Given the description of an element on the screen output the (x, y) to click on. 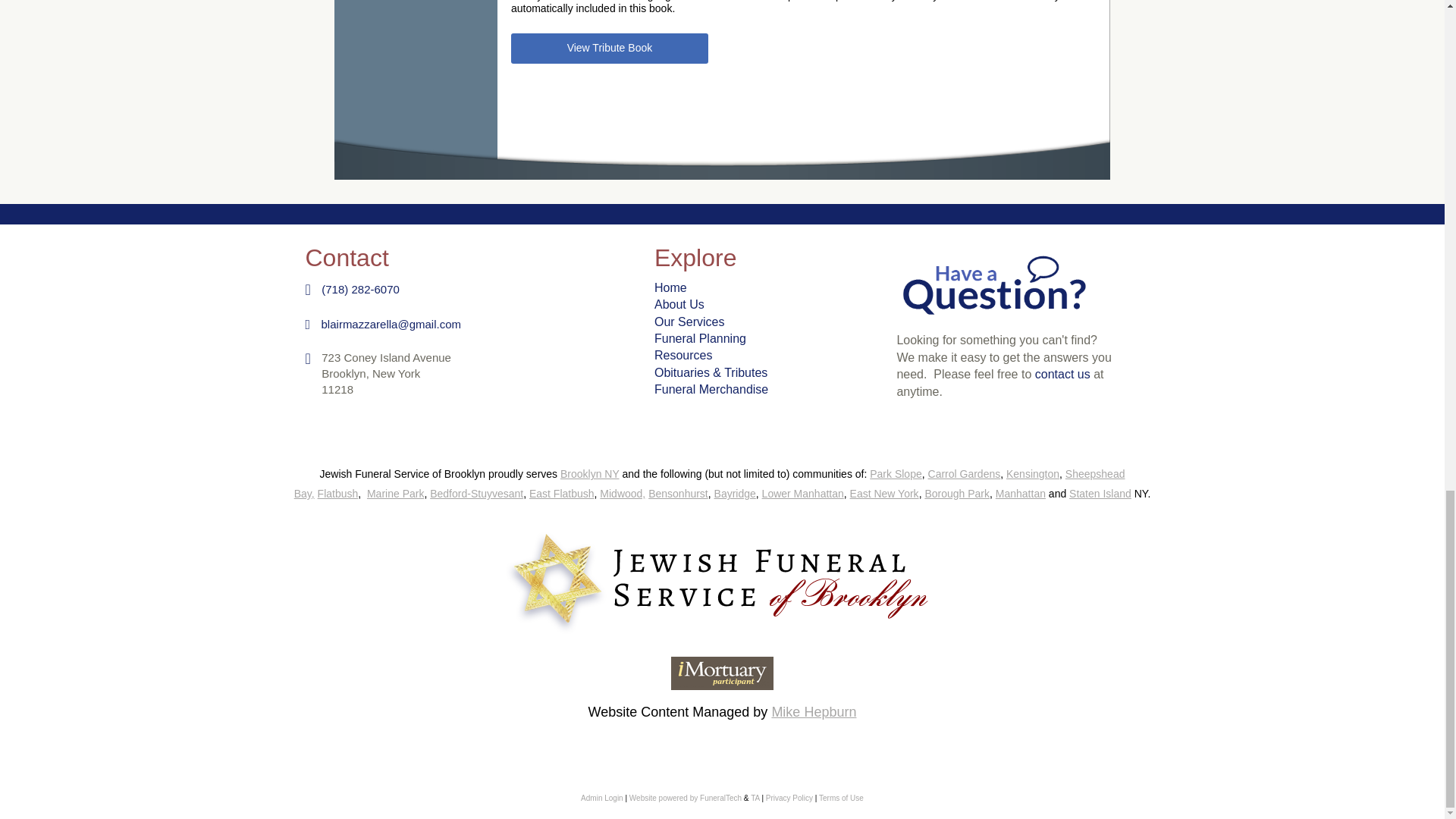
Funeral Homes in Lower Manhatten NY (802, 493)
Funeral Homes in Flatbush NY (337, 493)
Funeral Homes in Carrol Gardens NY (964, 473)
Funeral Homes in East New York NY (884, 493)
Funeral Homes in Bensonhurst NY (677, 493)
Funeral Homes in Sheepshead Bay NY (709, 483)
Funeral Homes in Marine Park NY (394, 493)
Funeral Homes in Kensington NY (1032, 473)
Funeral Homes in Brooklyn NY (590, 473)
Funeral Homes in Midwood NY (622, 493)
Funeral Homes in Bayridge NY (734, 493)
Funeral Homes in Bedford-Stuyvesant NY (475, 493)
Funeral Homes in Park Slope NY (895, 473)
